Given the description of an element on the screen output the (x, y) to click on. 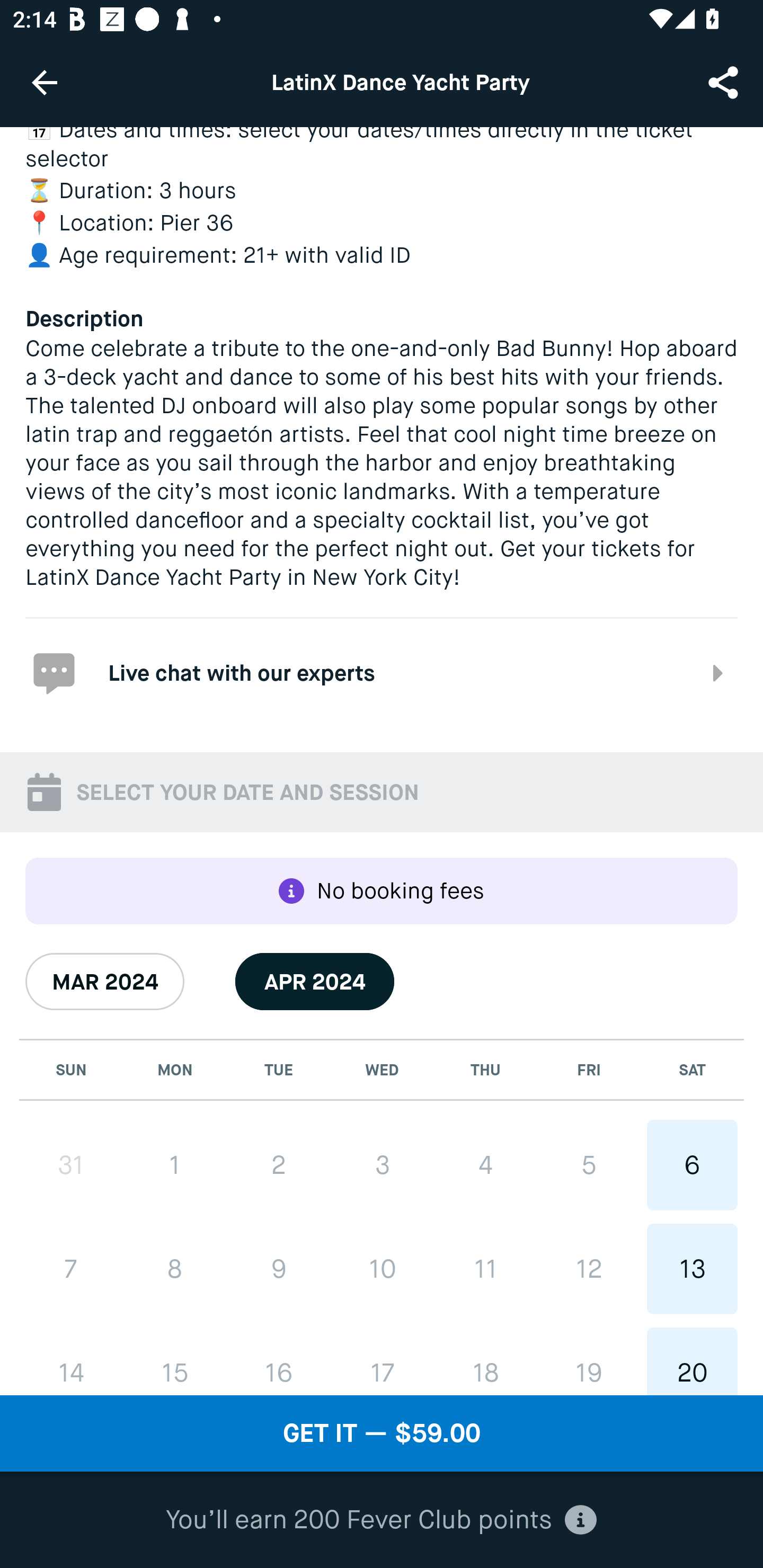
Navigate up (44, 82)
Share (724, 81)
Live chat with our experts (381, 672)
MAR 2024 (104, 981)
APR 2024 (314, 981)
31 (70, 1164)
1 (174, 1164)
2 (278, 1164)
3 (382, 1164)
4 (485, 1164)
5 (588, 1164)
6 (692, 1164)
7 (70, 1269)
8 (174, 1269)
9 (278, 1269)
10 (382, 1268)
11 (485, 1268)
12 (588, 1268)
13 (692, 1268)
14 (70, 1361)
15 (174, 1361)
16 (278, 1361)
17 (382, 1361)
18 (485, 1361)
19 (588, 1361)
20 (692, 1361)
GET IT — $59.00 (381, 1433)
You’ll earn 200 Fever Club points (380, 1519)
